Given the description of an element on the screen output the (x, y) to click on. 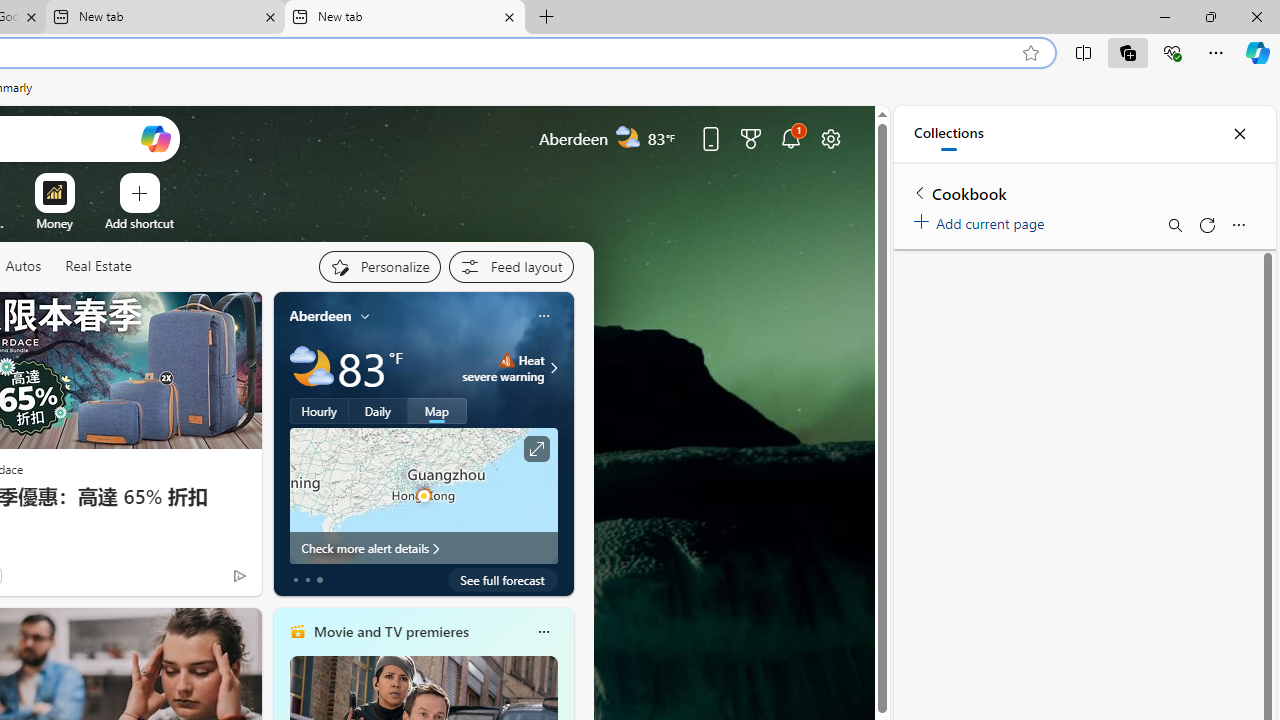
Real Estate (98, 265)
See full forecast (502, 579)
Larger map  (423, 495)
Ad Choice (238, 575)
Money (53, 223)
Daily (378, 411)
Aberdeen (320, 315)
Back to list of collections (920, 192)
You're following The Weather Channel (197, 579)
